Given the description of an element on the screen output the (x, y) to click on. 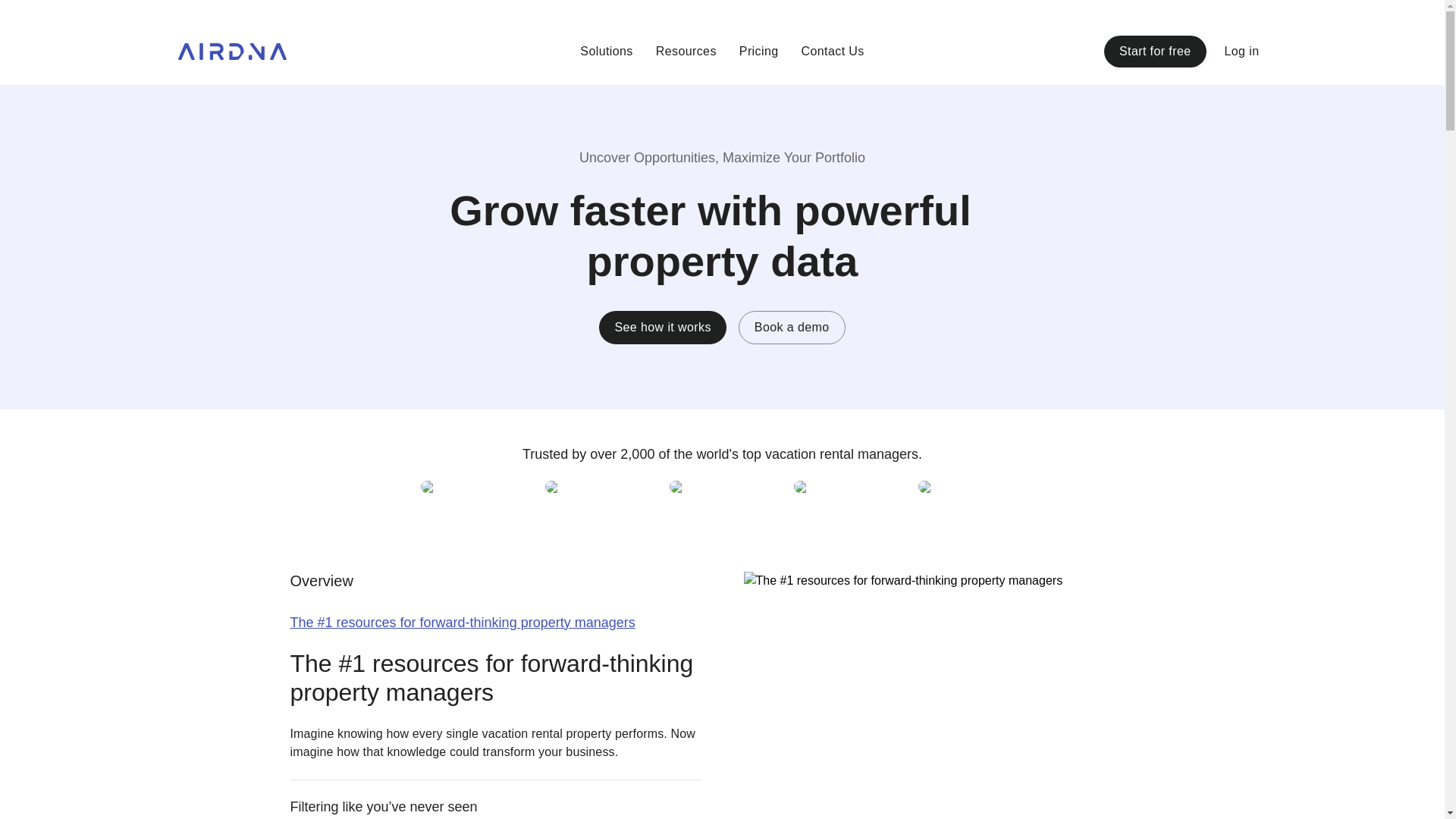
Resources (686, 51)
Book a demo (791, 327)
See how it works (661, 327)
Start for free (1155, 51)
Contact Us (851, 51)
Solutions (587, 51)
Log in (1241, 51)
